Given the description of an element on the screen output the (x, y) to click on. 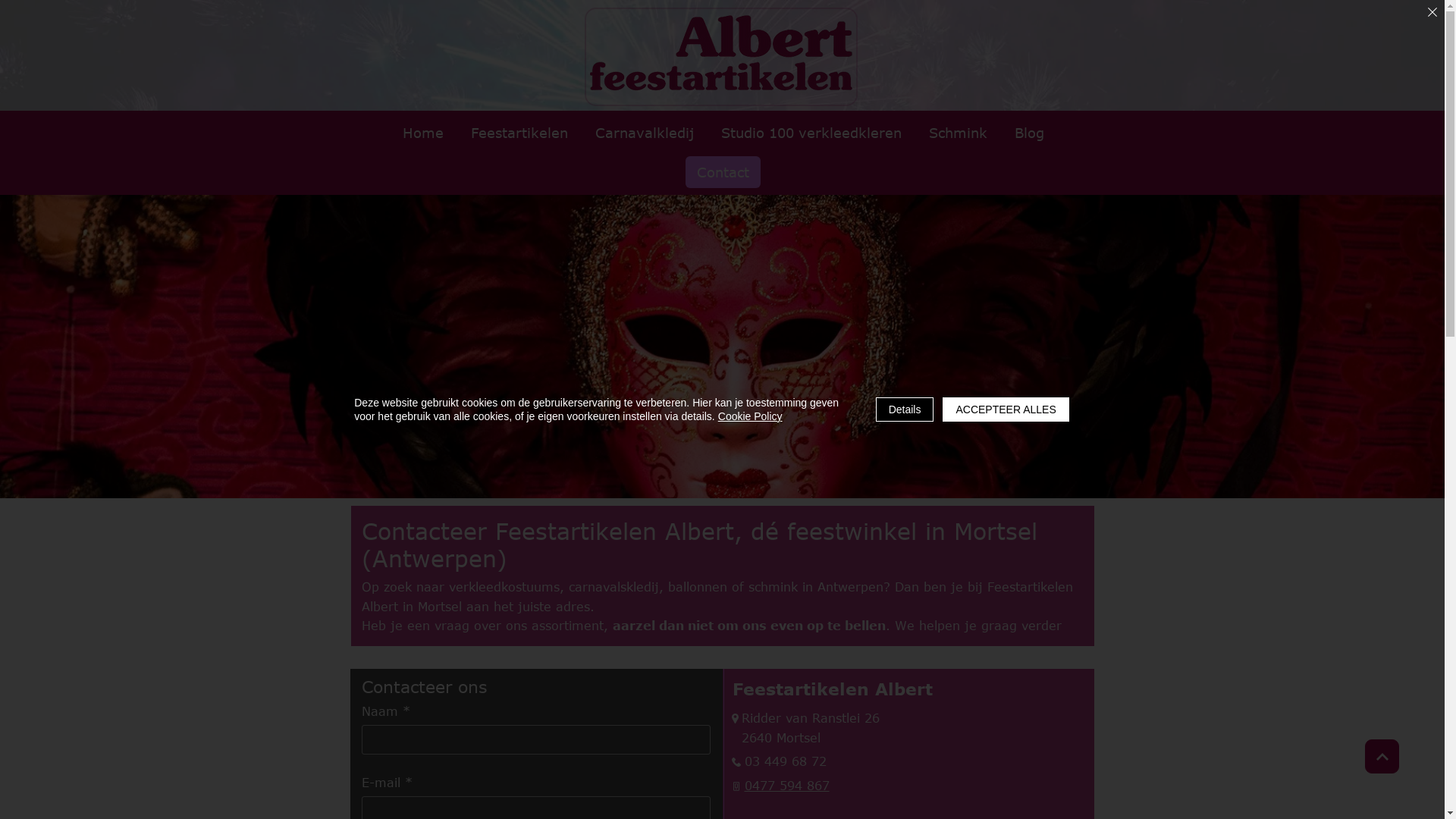
Schmink Element type: text (957, 132)
Cookie Policy Element type: text (750, 416)
Carnavalkledij Element type: text (644, 132)
Blog Element type: text (1028, 132)
0477 594 867 Element type: text (786, 785)
Home Element type: text (423, 132)
Contact Element type: text (722, 172)
Feestartikelen Albert Element type: hover (720, 53)
03 449 68 72 Element type: text (785, 761)
Details Element type: text (904, 409)
Studio 100 verkleedkleren Element type: text (811, 132)
Feestartikelen Element type: text (519, 132)
ACCEPTEER ALLES Element type: text (1005, 409)
